Given the description of an element on the screen output the (x, y) to click on. 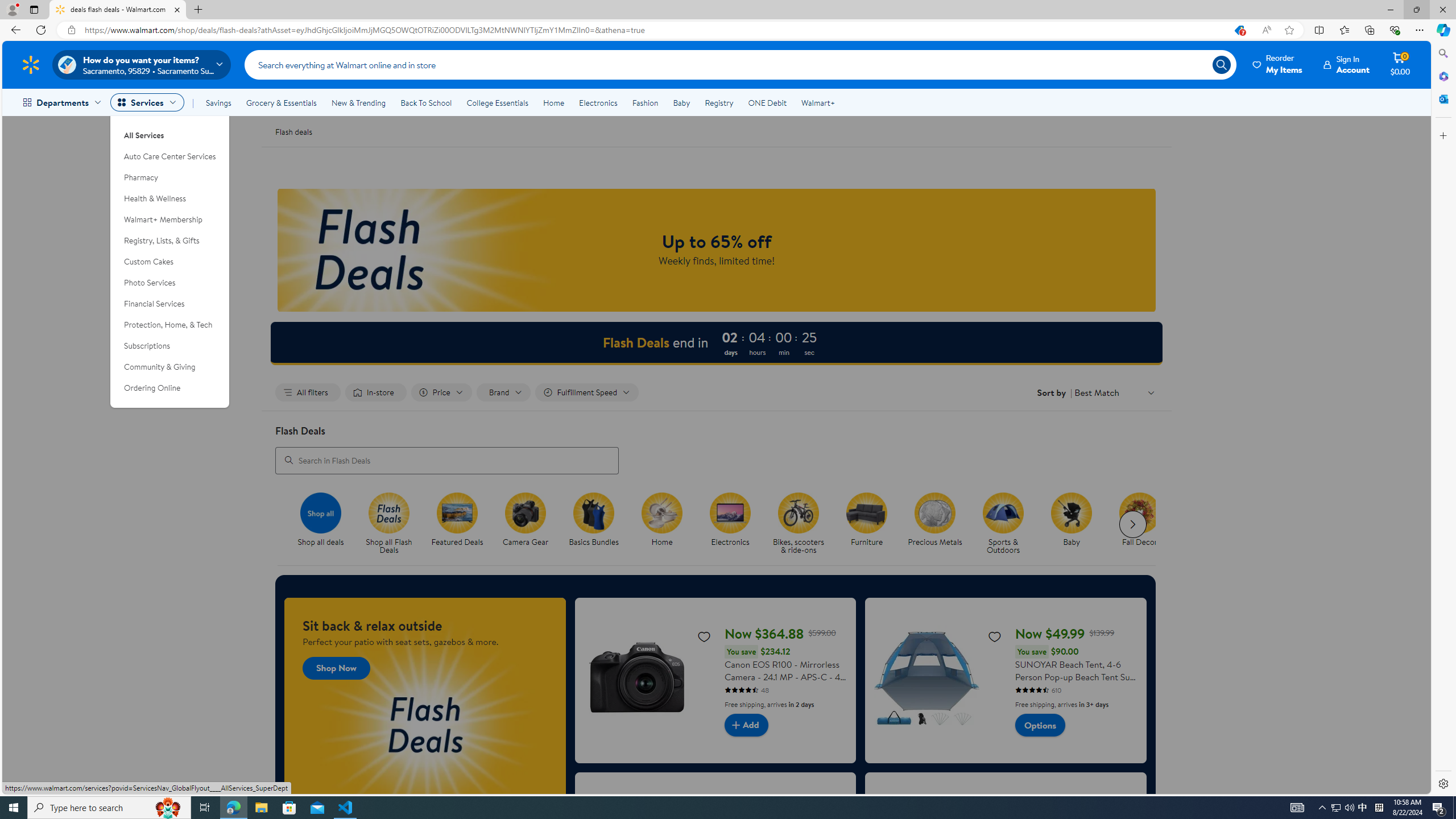
Subscriptions (170, 345)
ONE Debit (767, 102)
Registry, Lists, & Gifts (170, 240)
Bikes, scooters & ride-ons Bikes, scooters & ride-ons (798, 524)
Search icon (1220, 64)
Home Home (661, 519)
Health & Wellness (170, 198)
Pharmacy (170, 177)
Basics Bundles (593, 512)
Grocery & Essentials (280, 102)
Flash deals (293, 131)
